Given the description of an element on the screen output the (x, y) to click on. 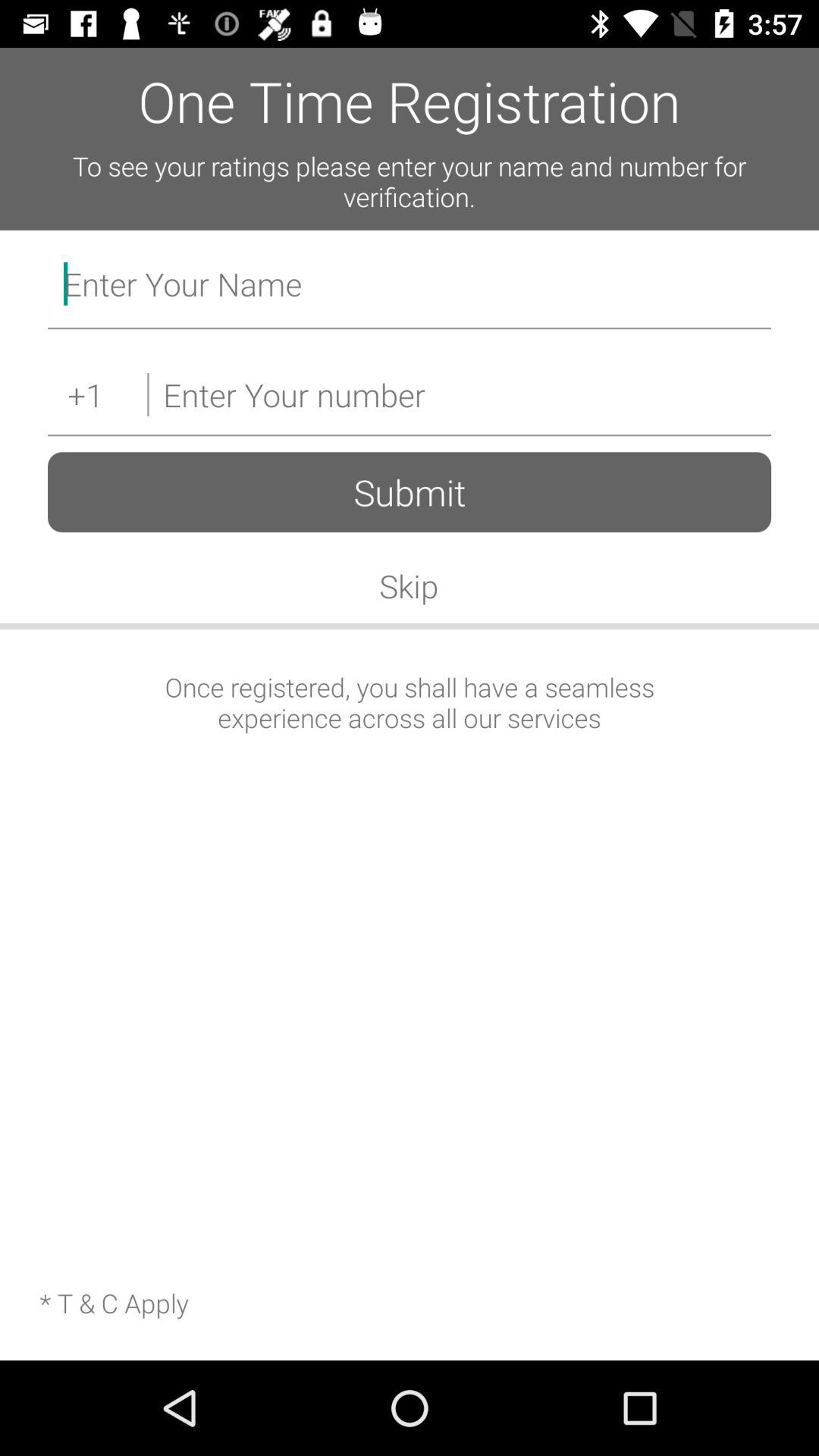
press the item next to the +1 icon (459, 394)
